Given the description of an element on the screen output the (x, y) to click on. 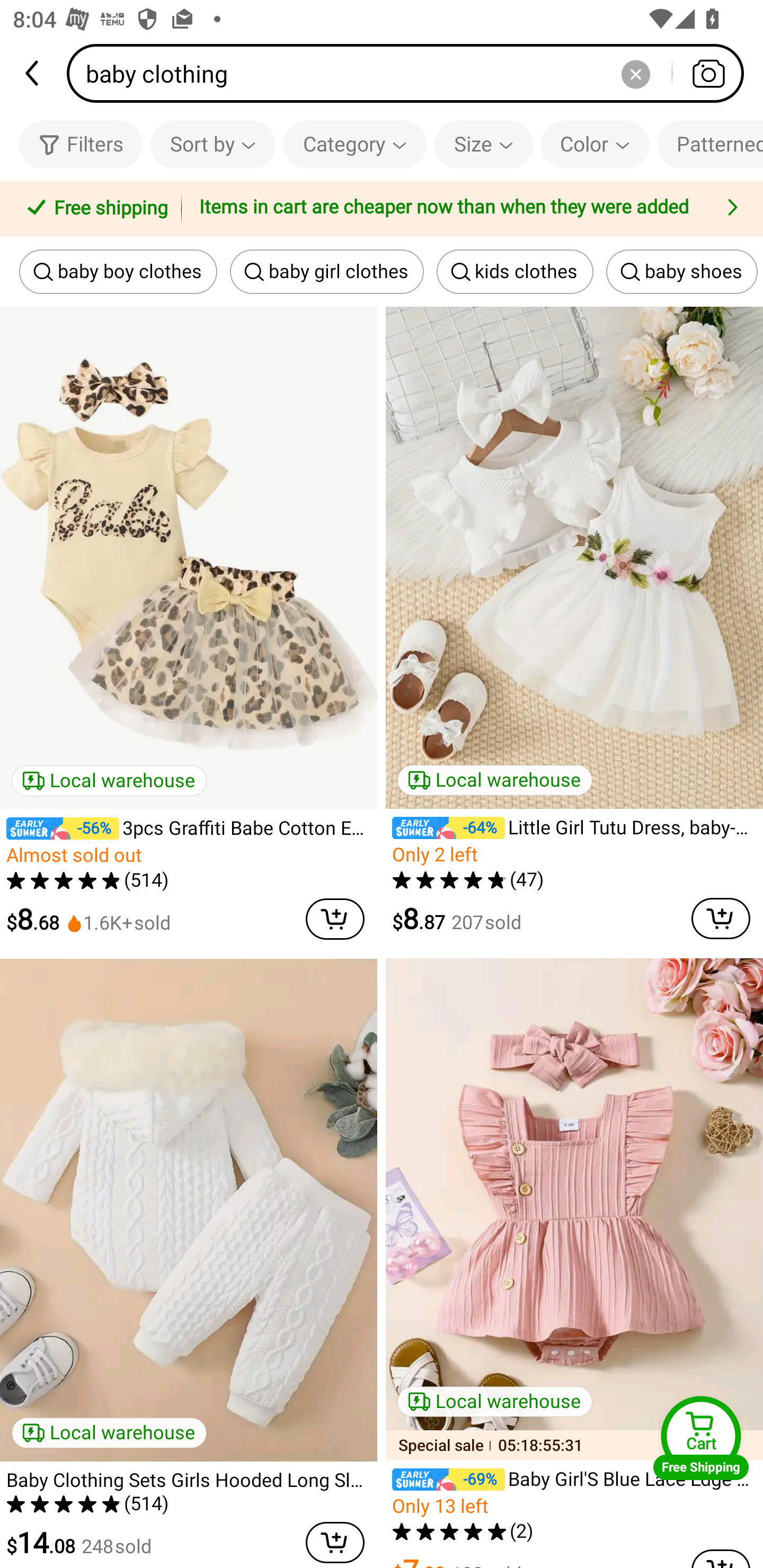
back (33, 72)
baby clothing (411, 73)
Delete search history (635, 73)
Search by photo (708, 73)
Filters (80, 143)
Sort by (212, 143)
Category (354, 143)
Size (483, 143)
Color (594, 143)
Patterned (710, 143)
 Free shipping (93, 208)
baby boy clothes (118, 271)
baby girl clothes (326, 271)
kids clothes (514, 271)
baby shoes (681, 271)
Cart Free Shipping Cart (701, 1437)
